Given the description of an element on the screen output the (x, y) to click on. 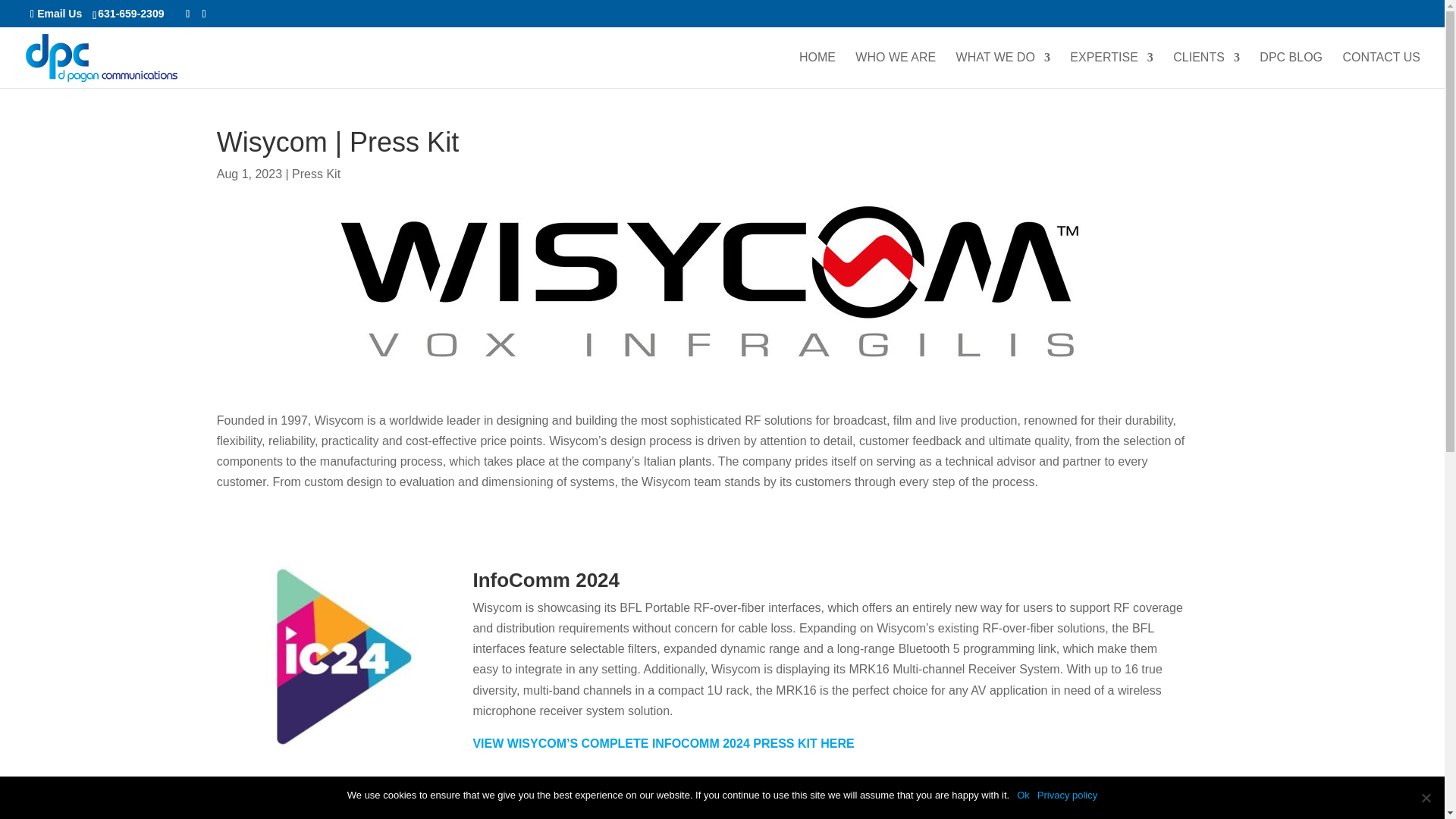
No (1425, 797)
Email Us (55, 13)
DPC BLOG (1290, 69)
Press Kit (316, 173)
CLIENTS (1206, 69)
HOME (817, 69)
WHO WE ARE (896, 69)
CONTACT US (1381, 69)
EXPERTISE (1111, 69)
WHAT WE DO (1002, 69)
